Given the description of an element on the screen output the (x, y) to click on. 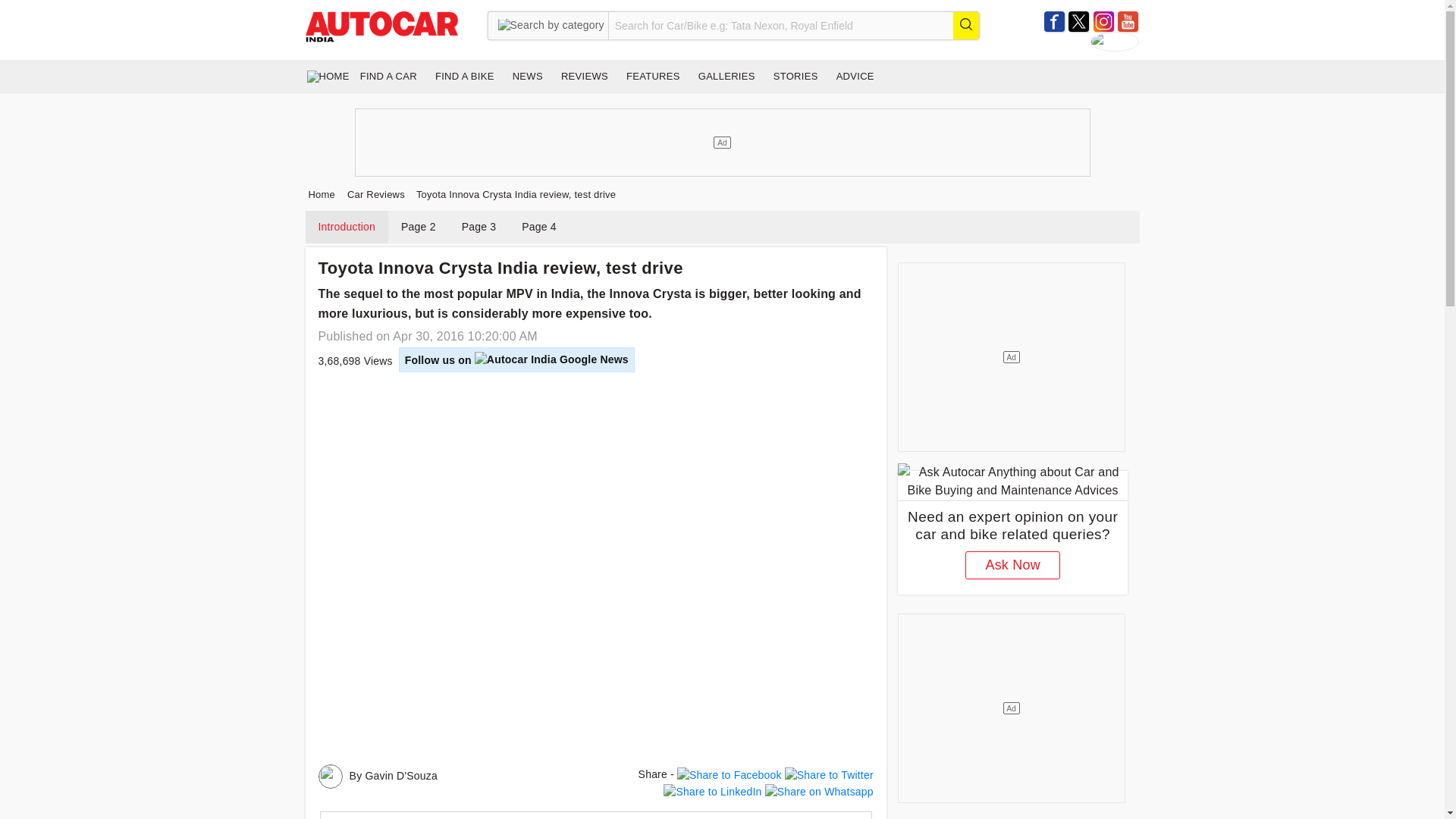
FIND A CAR (388, 75)
NEWS (527, 75)
FIND A BIKE (464, 75)
